Given the description of an element on the screen output the (x, y) to click on. 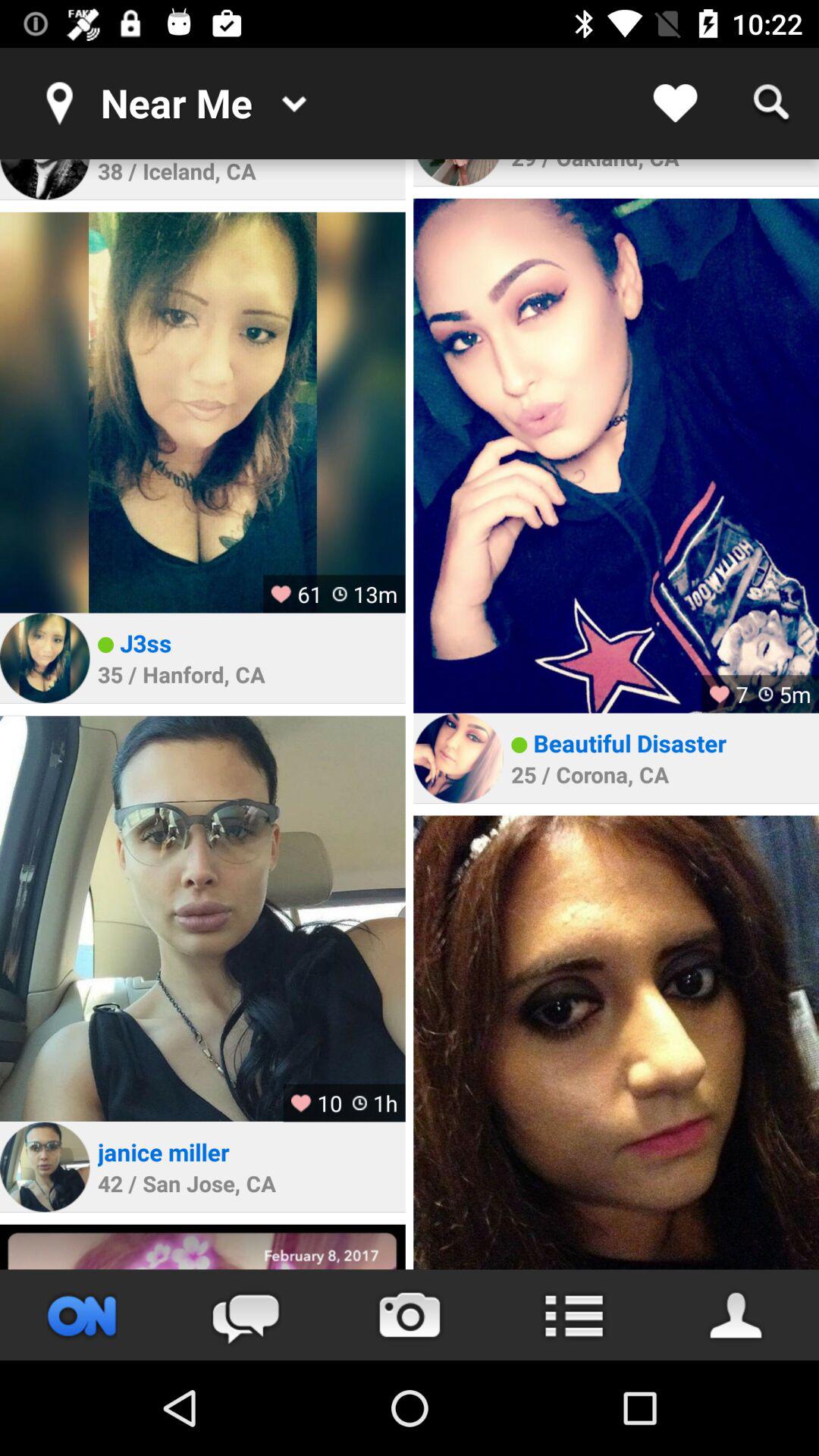
select messages (245, 1315)
